Given the description of an element on the screen output the (x, y) to click on. 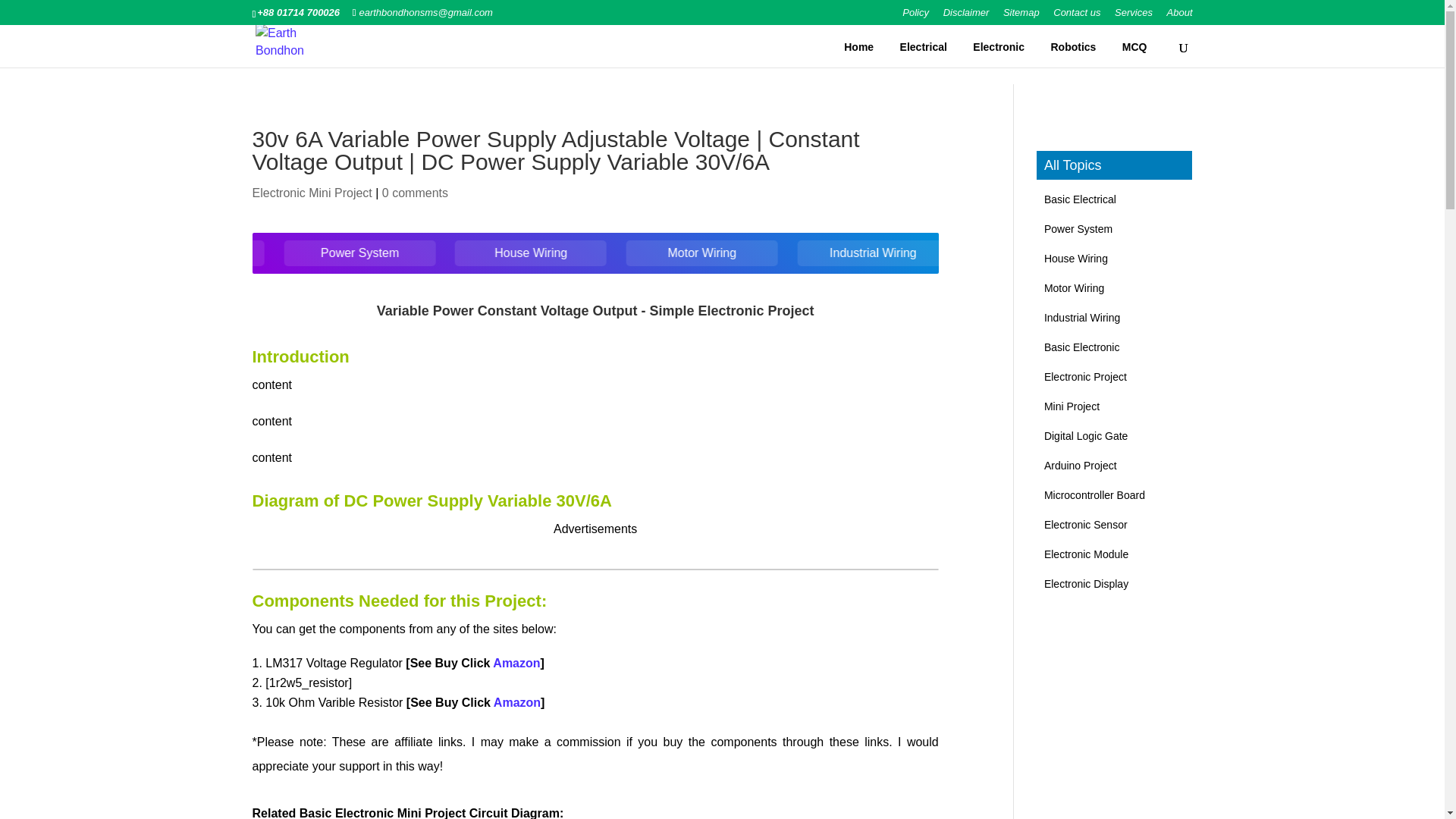
Sitemap (1021, 16)
Disclaimer (966, 16)
MCQ (1134, 46)
0 comments (414, 192)
Robotics (1072, 46)
House Wiring (625, 252)
About (1179, 16)
Electronic Mini Project (311, 192)
Policy (915, 16)
Basic Electrical (285, 252)
Power System (455, 252)
Contact us (1076, 16)
Home (857, 46)
Services (1134, 16)
Electrical (923, 46)
